Given the description of an element on the screen output the (x, y) to click on. 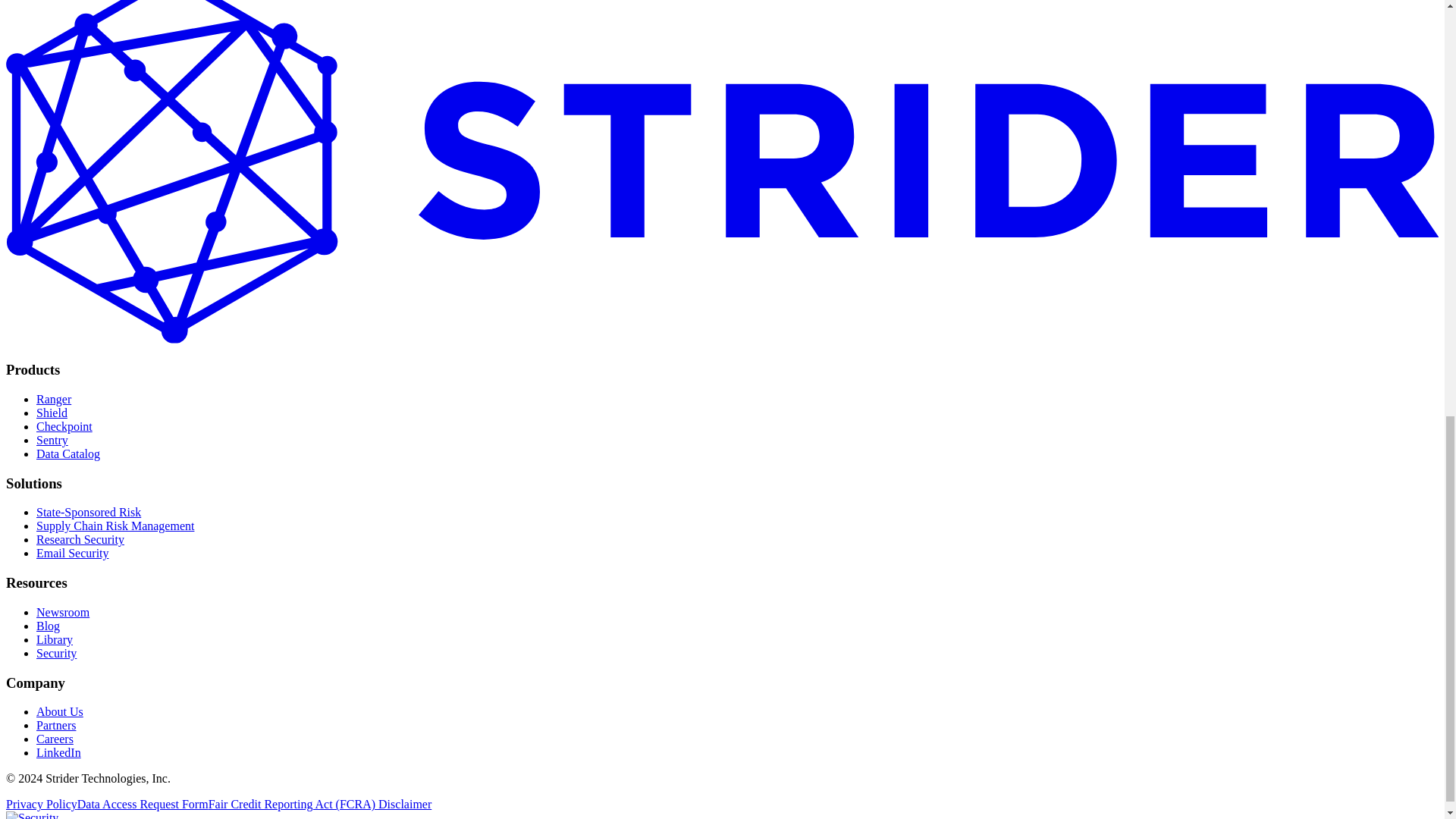
Security (56, 653)
State-Sponsored Risk (88, 512)
Ranger (53, 399)
Partners (55, 725)
Library (54, 639)
Newsroom (62, 612)
Sentry (52, 440)
Blog (47, 625)
About Us (59, 711)
Careers (55, 738)
Email Security (72, 553)
Supply Chain Risk Management (114, 525)
Research Security (79, 539)
Privacy Policy (41, 803)
Checkpoint (64, 426)
